Given the description of an element on the screen output the (x, y) to click on. 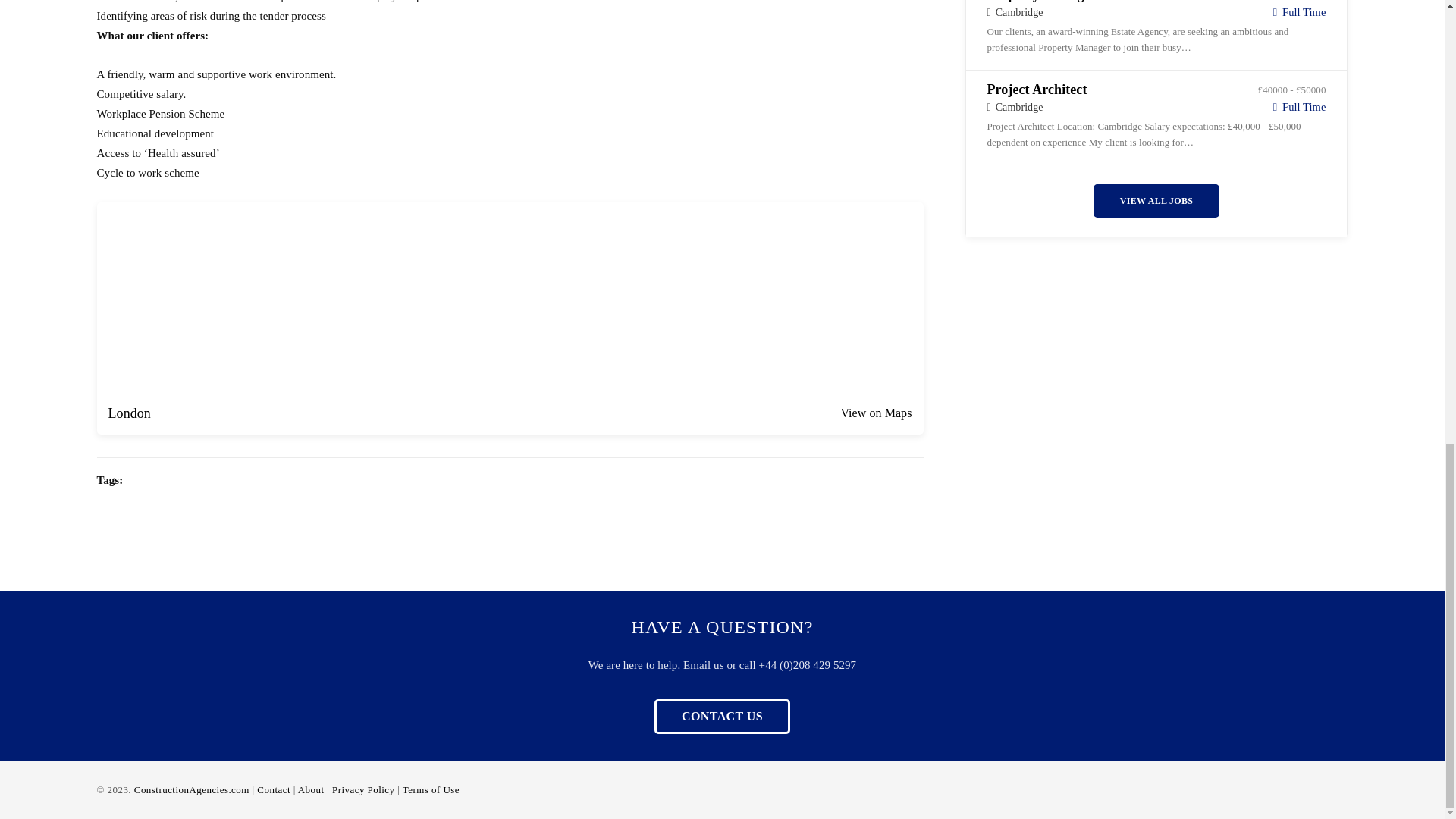
London (128, 412)
View on Maps (875, 413)
